Given the description of an element on the screen output the (x, y) to click on. 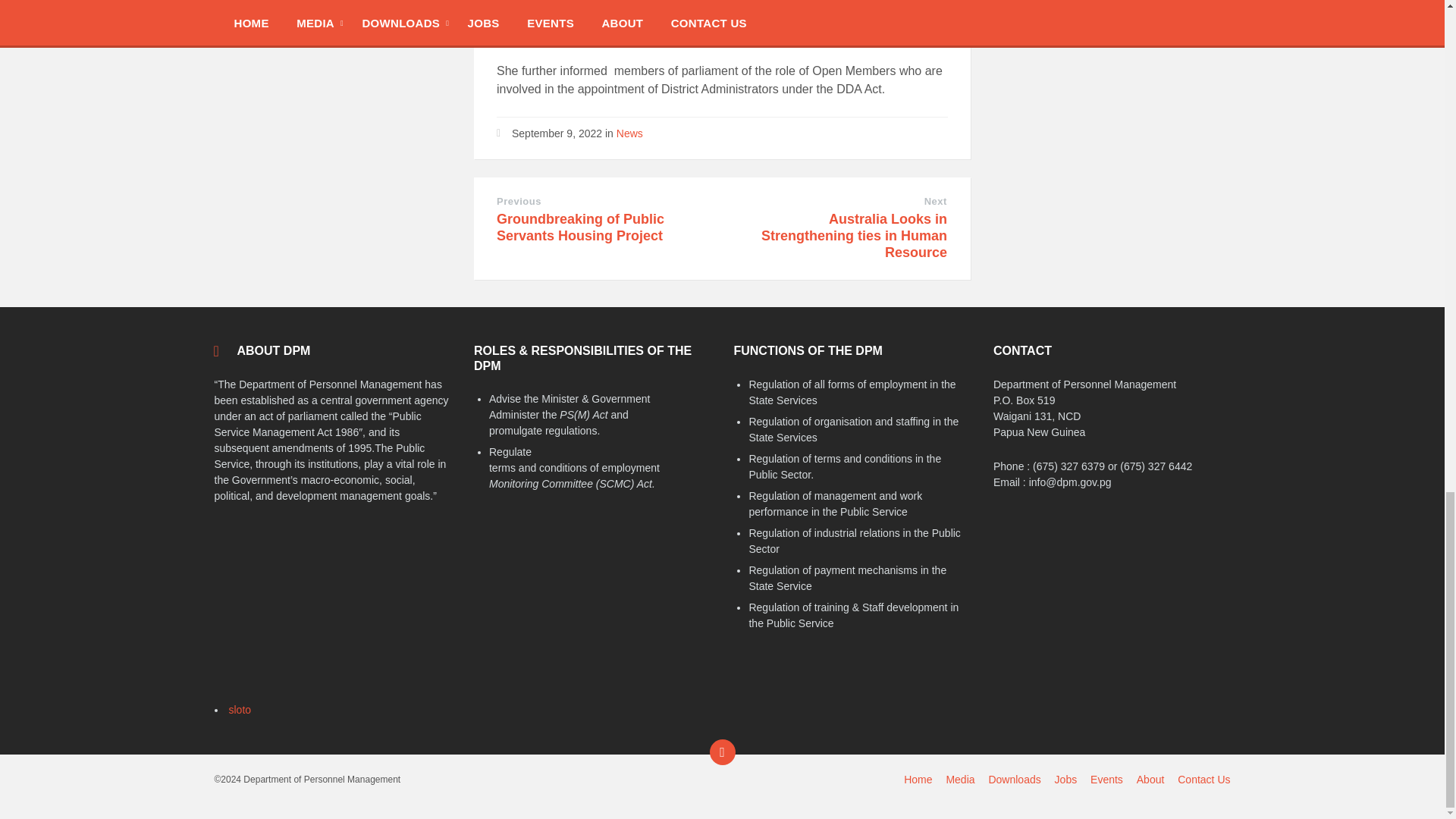
Previous (518, 201)
Next (935, 201)
Australia Looks in Strengthening ties in Human Resource (854, 235)
Email (722, 751)
News (629, 133)
Groundbreaking of Public Servants Housing Project (579, 227)
